Given the description of an element on the screen output the (x, y) to click on. 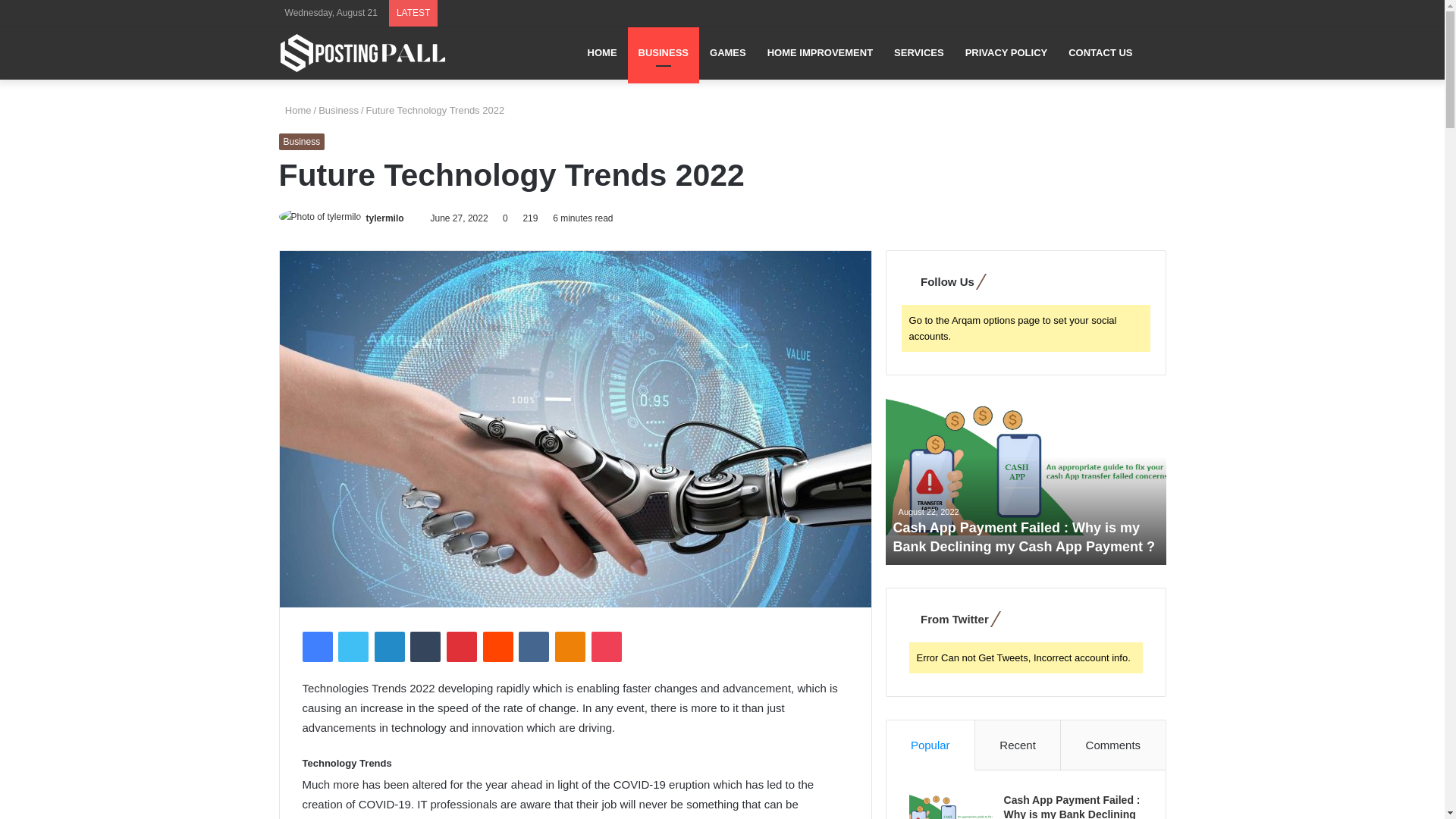
LinkedIn (389, 646)
CONTACT US (1100, 52)
Business (301, 141)
SERVICES (919, 52)
Twitter (352, 646)
tylermilo (385, 217)
Home (295, 110)
PRIVACY POLICY (1006, 52)
Business (338, 110)
BUSINESS (662, 52)
